Given the description of an element on the screen output the (x, y) to click on. 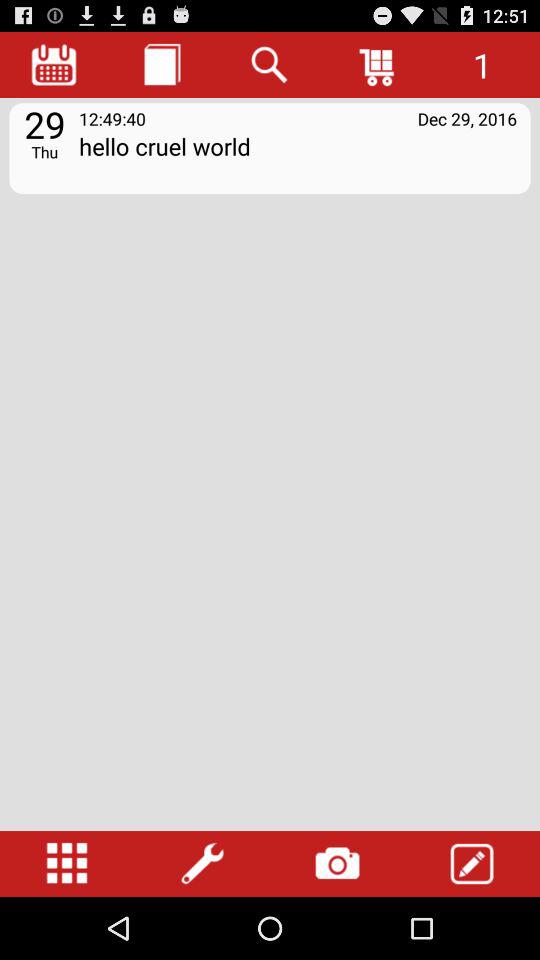
open icon next to dec 29, 2016 app (112, 118)
